Given the description of an element on the screen output the (x, y) to click on. 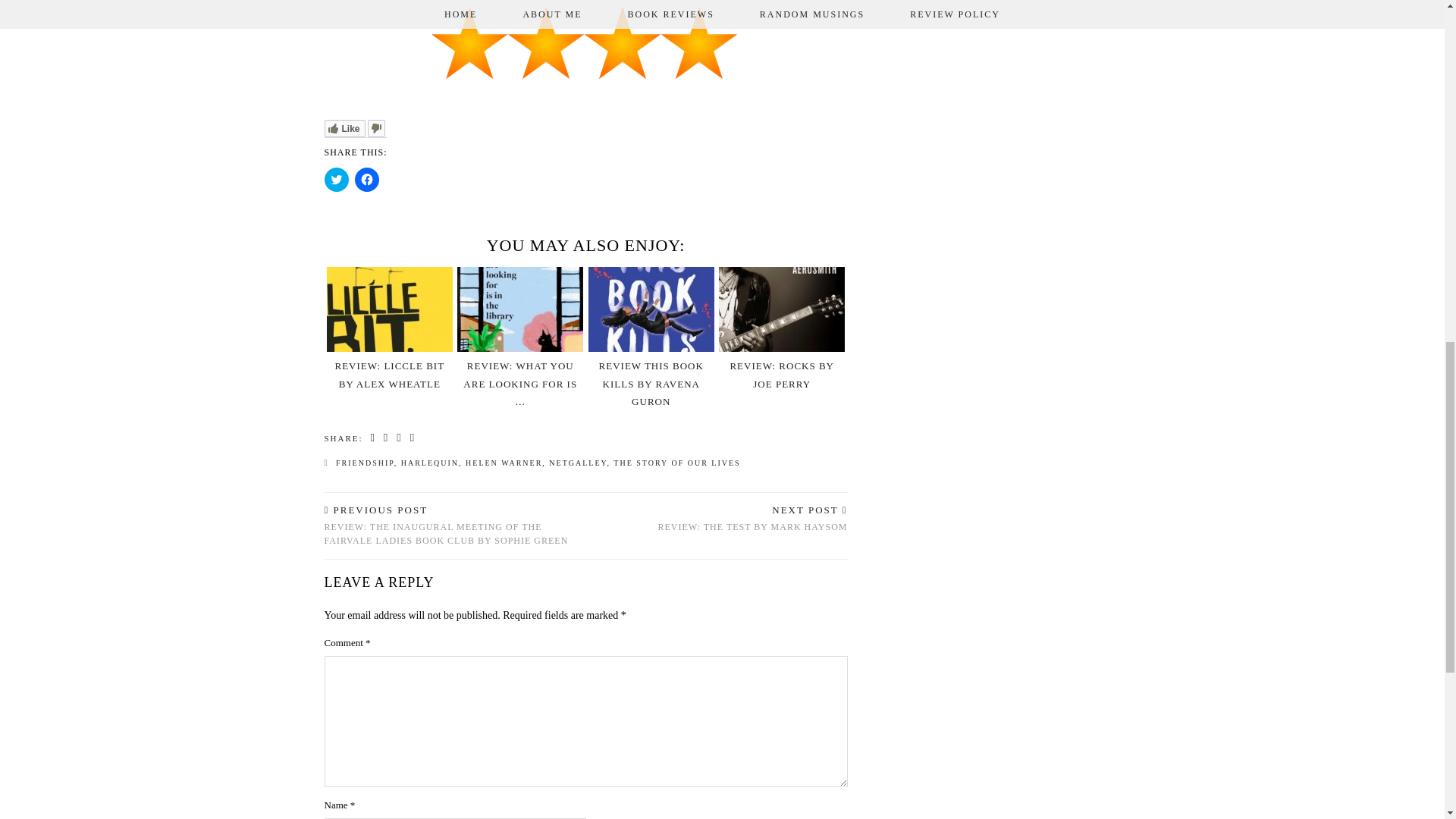
Review: Rocks by Joe Perry (781, 309)
NETGALLEY (577, 462)
Review This Book Kills by Ravena Guron (650, 383)
Review: Rocks by Joe Perry (781, 374)
REVIEW THIS BOOK KILLS BY RAVENA GURON (650, 383)
REVIEW: LICCLE BIT BY ALEX WHEATLE (752, 519)
FRIENDSHIP (389, 374)
THE STORY OF OUR LIVES (365, 462)
